Given the description of an element on the screen output the (x, y) to click on. 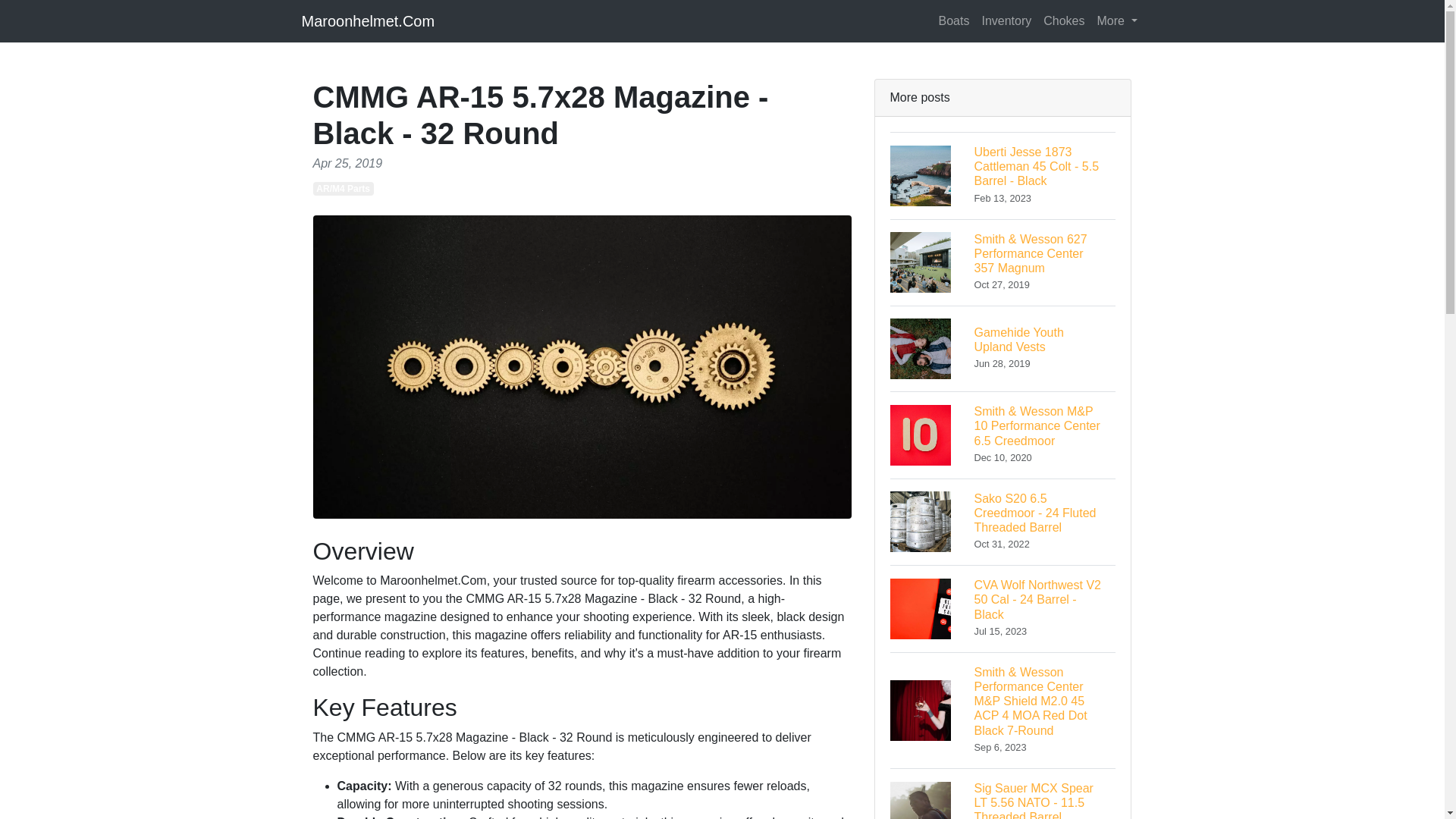
Boats (954, 20)
Maroonhelmet.Com (368, 20)
Chokes (1063, 20)
Inventory (1005, 20)
More (1002, 348)
